Given the description of an element on the screen output the (x, y) to click on. 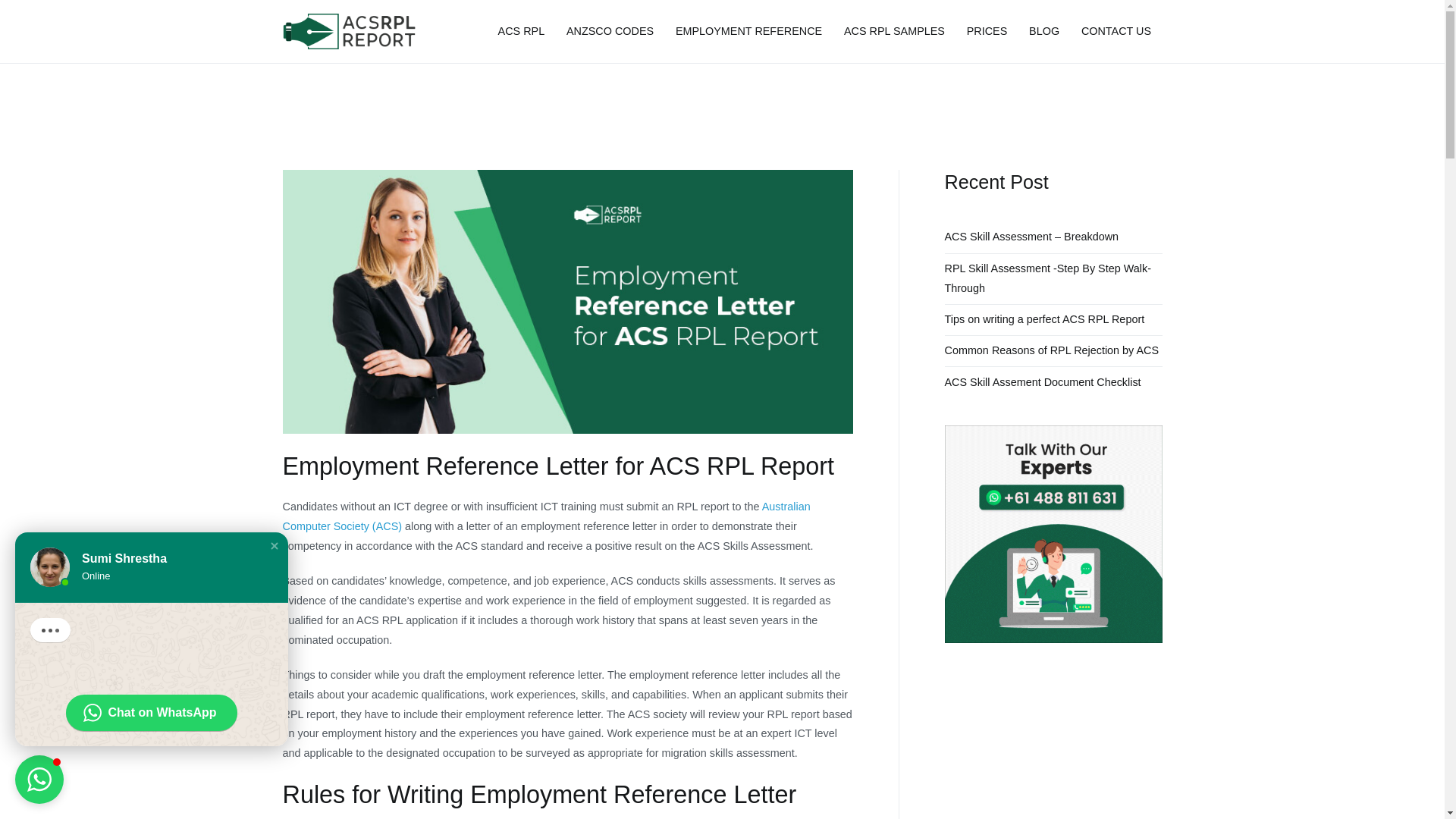
Common Reasons of RPL Rejection by ACS (1051, 350)
ACS RPL (520, 31)
BLOG (1044, 31)
RPL Skill Assessment -Step By Step Walk-Through (1052, 278)
ANZSCO CODES (609, 31)
WhatsApp (150, 712)
EMPLOYMENT REFERENCE (748, 31)
CONTACT US (1116, 31)
Tips on writing a perfect ACS RPL Report (1044, 319)
PRICES (986, 31)
ACS RPL SAMPLES (894, 31)
ACS Skill Assement Document Checklist (1042, 381)
